Given the description of an element on the screen output the (x, y) to click on. 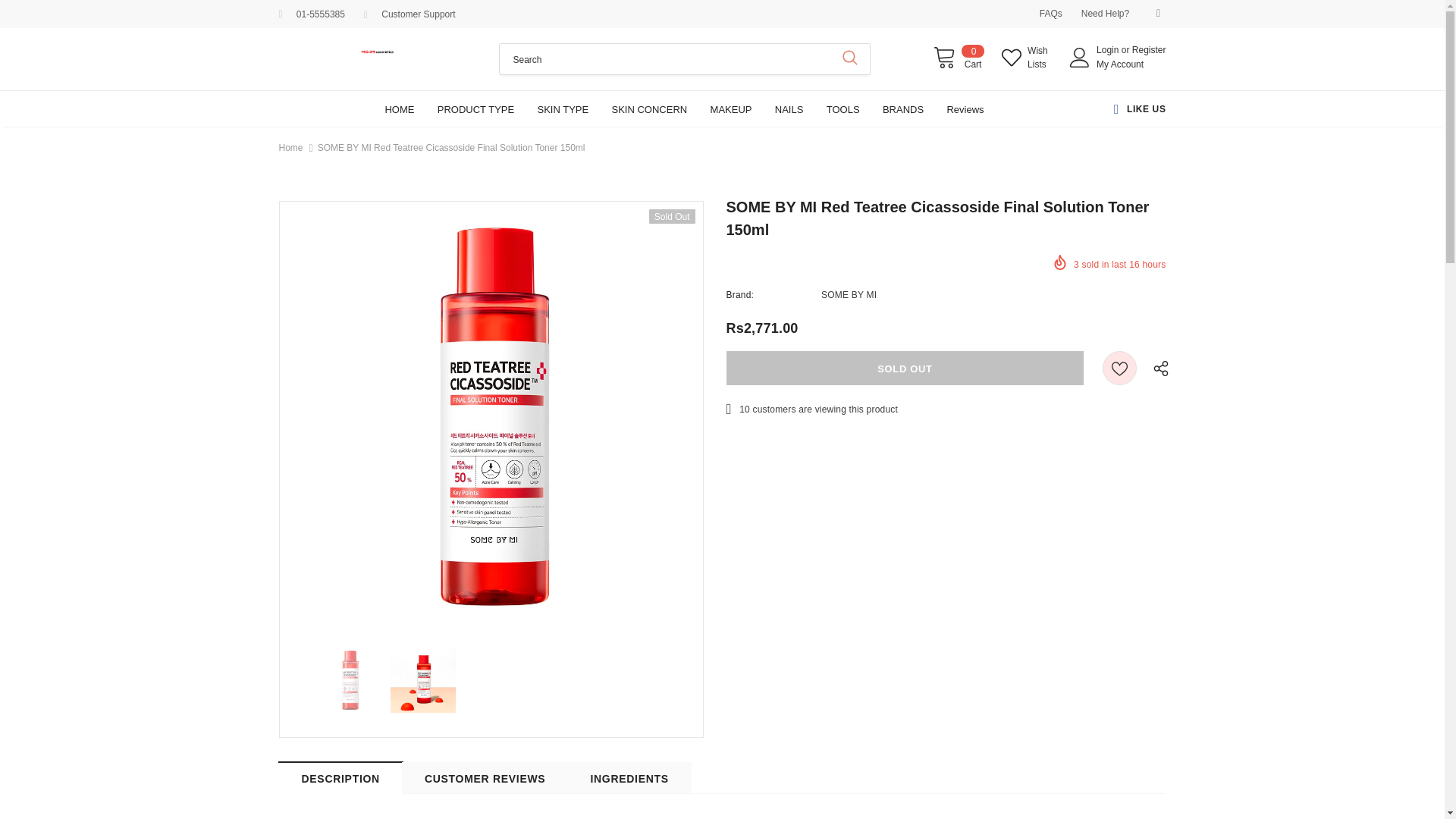
Need Help? (1105, 13)
Customer Support (417, 14)
FAQs (1050, 13)
Sold Out (905, 367)
Logo (377, 50)
